Given the description of an element on the screen output the (x, y) to click on. 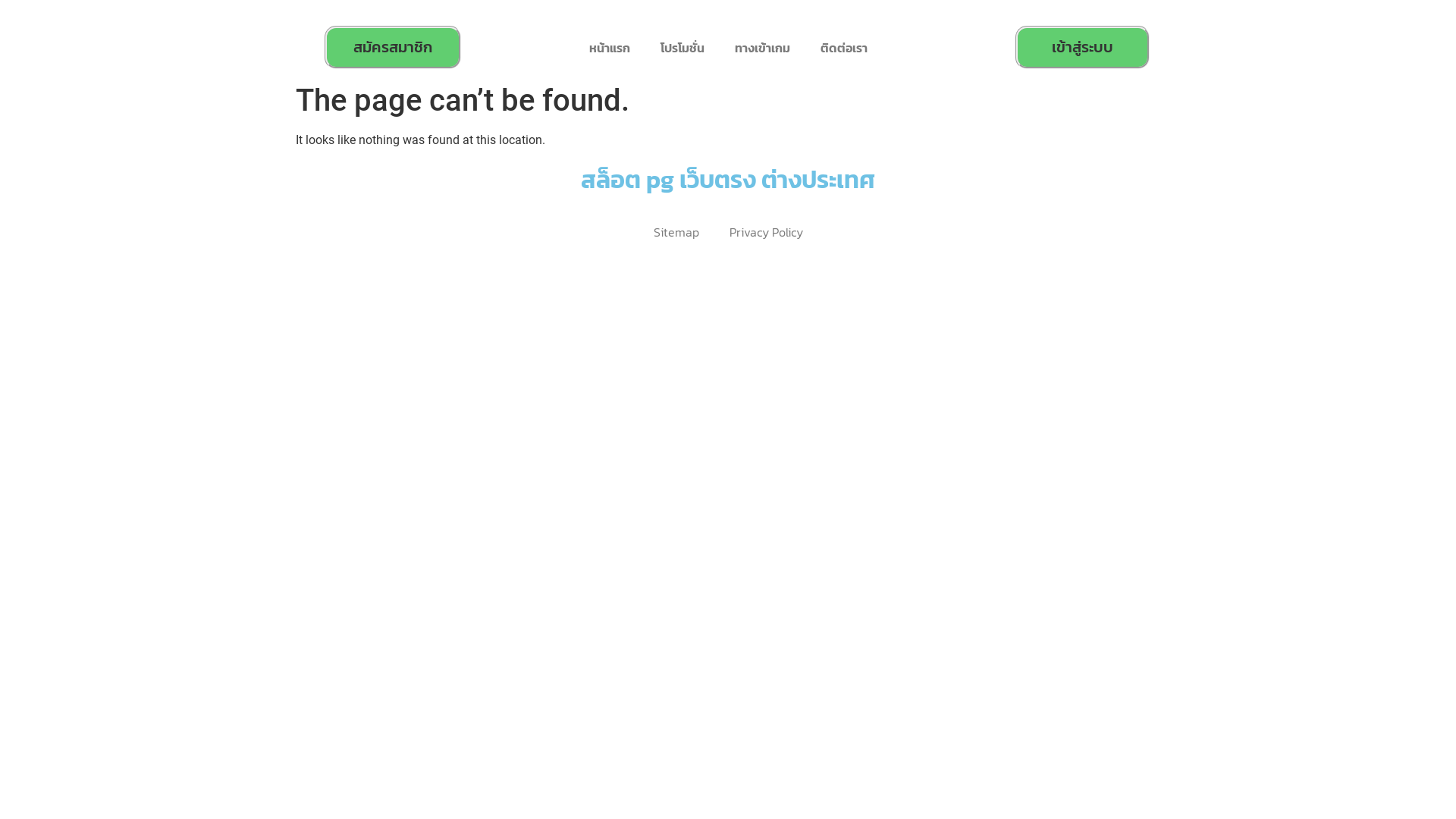
Privacy Policy Element type: text (766, 232)
Sitemap Element type: text (676, 232)
